Given the description of an element on the screen output the (x, y) to click on. 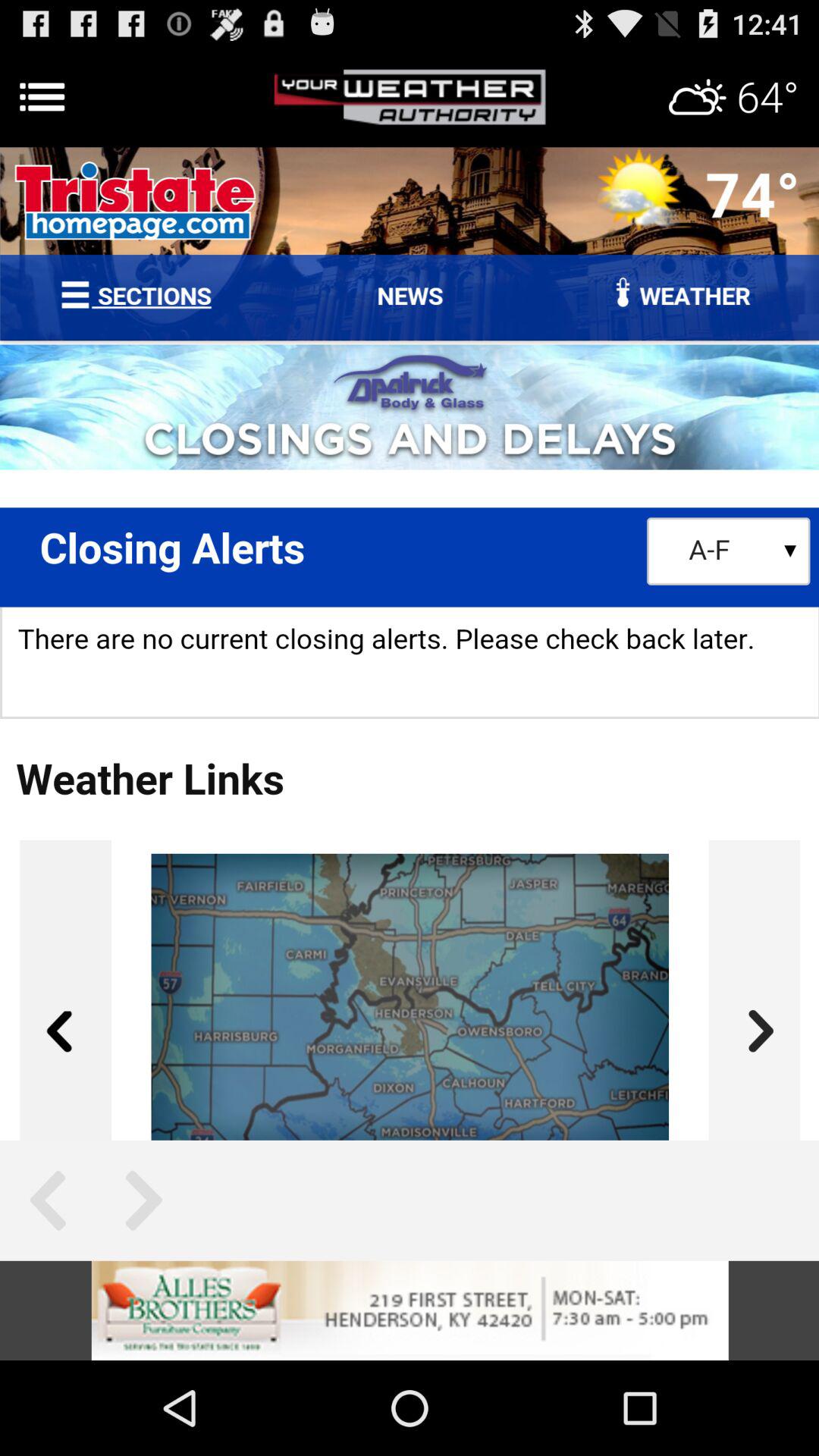
screen page (409, 643)
